Given the description of an element on the screen output the (x, y) to click on. 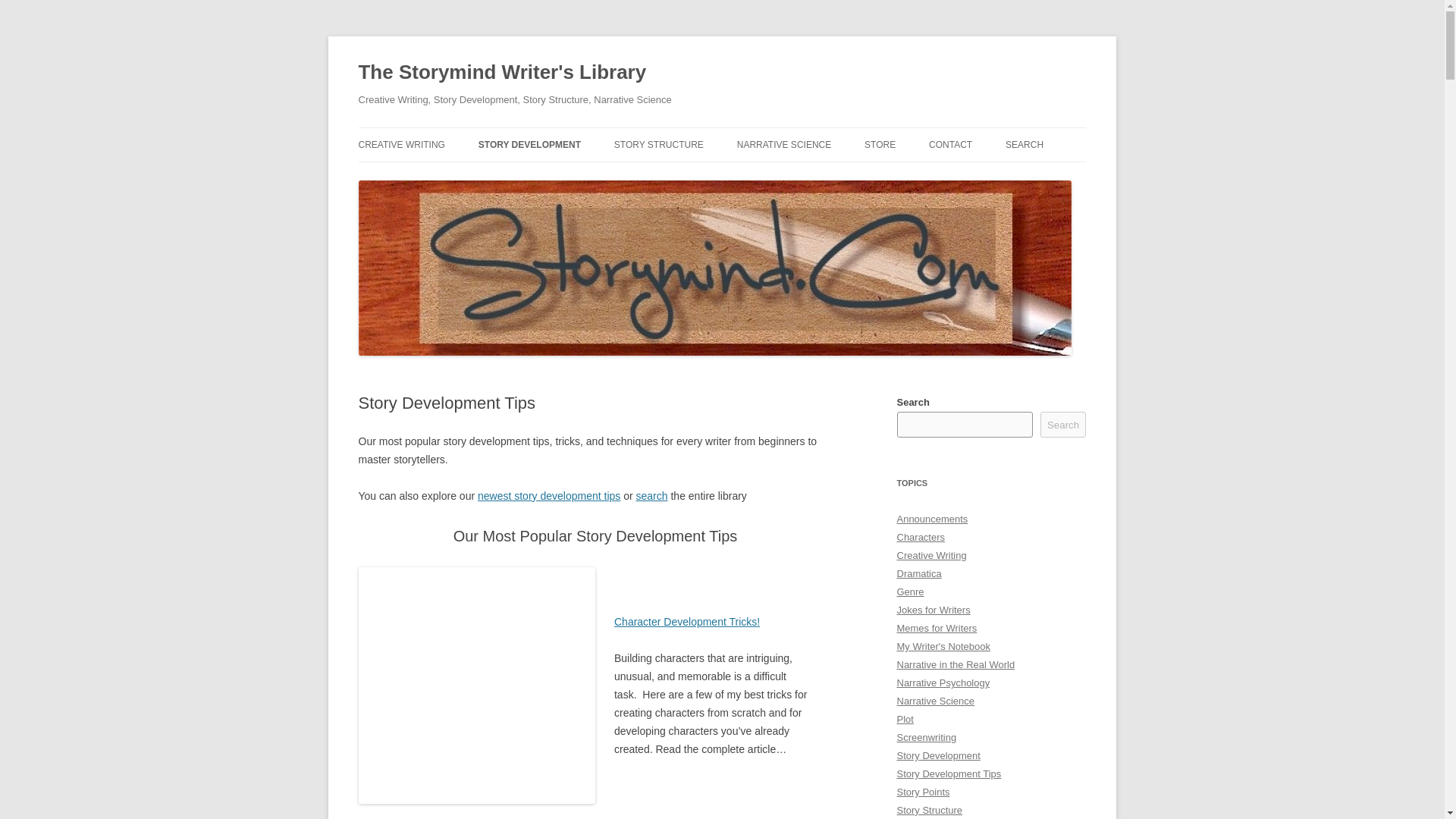
NARRATIVE SCIENCE (783, 144)
SEARCH (1024, 144)
STORY STRUCTURE (658, 144)
The Storymind Writer's Library (502, 72)
newest story development tips (548, 495)
Character Development Tricks! (687, 621)
The Storymind Writer's Library (502, 72)
CREATIVE WRITING (401, 144)
STORE (879, 144)
search (652, 495)
CONTACT (950, 144)
STORY DEVELOPMENT (529, 144)
